Given the description of an element on the screen output the (x, y) to click on. 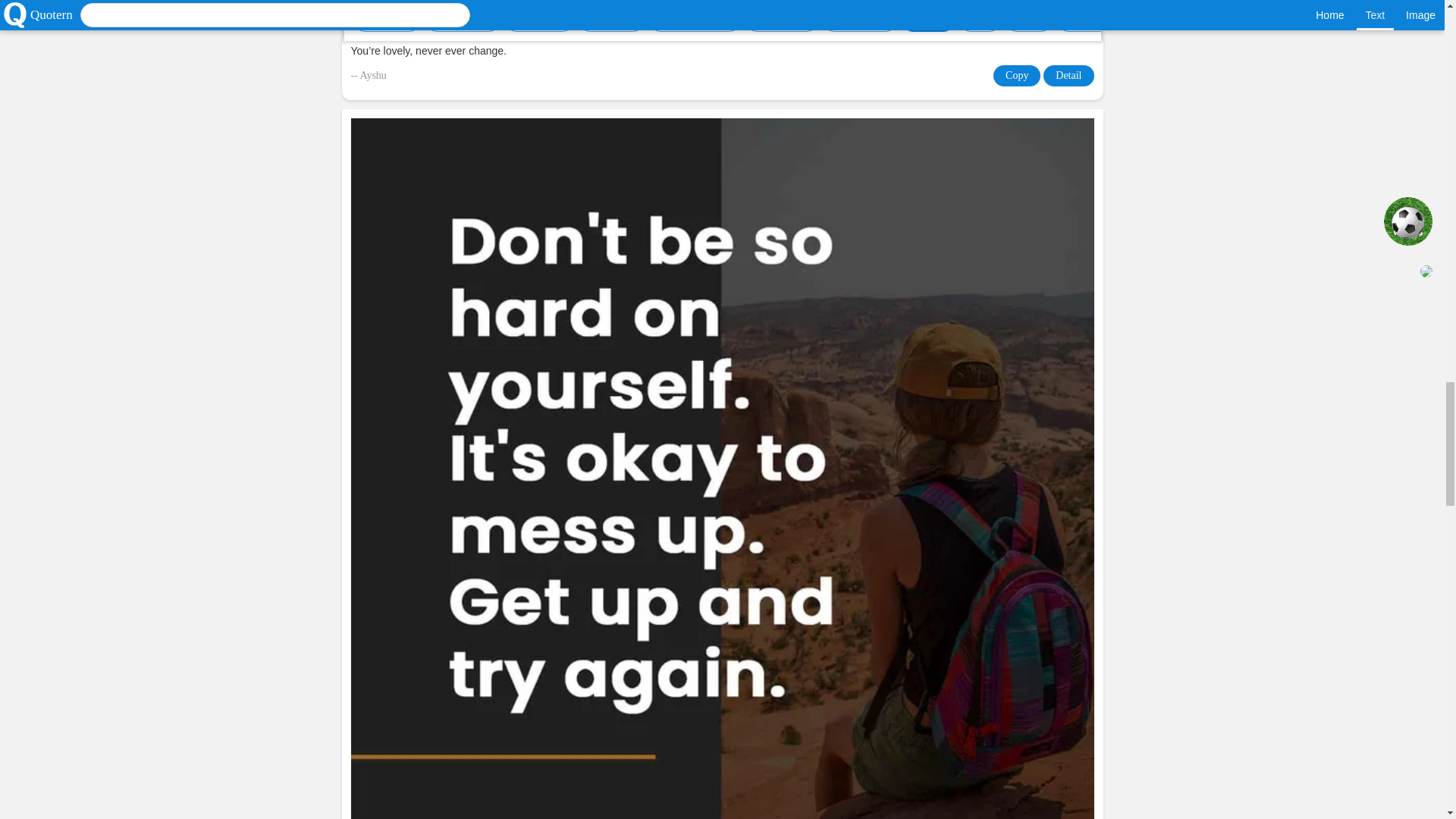
Detail (1068, 75)
Copy (1016, 75)
-- Ayshu (367, 75)
